Given the description of an element on the screen output the (x, y) to click on. 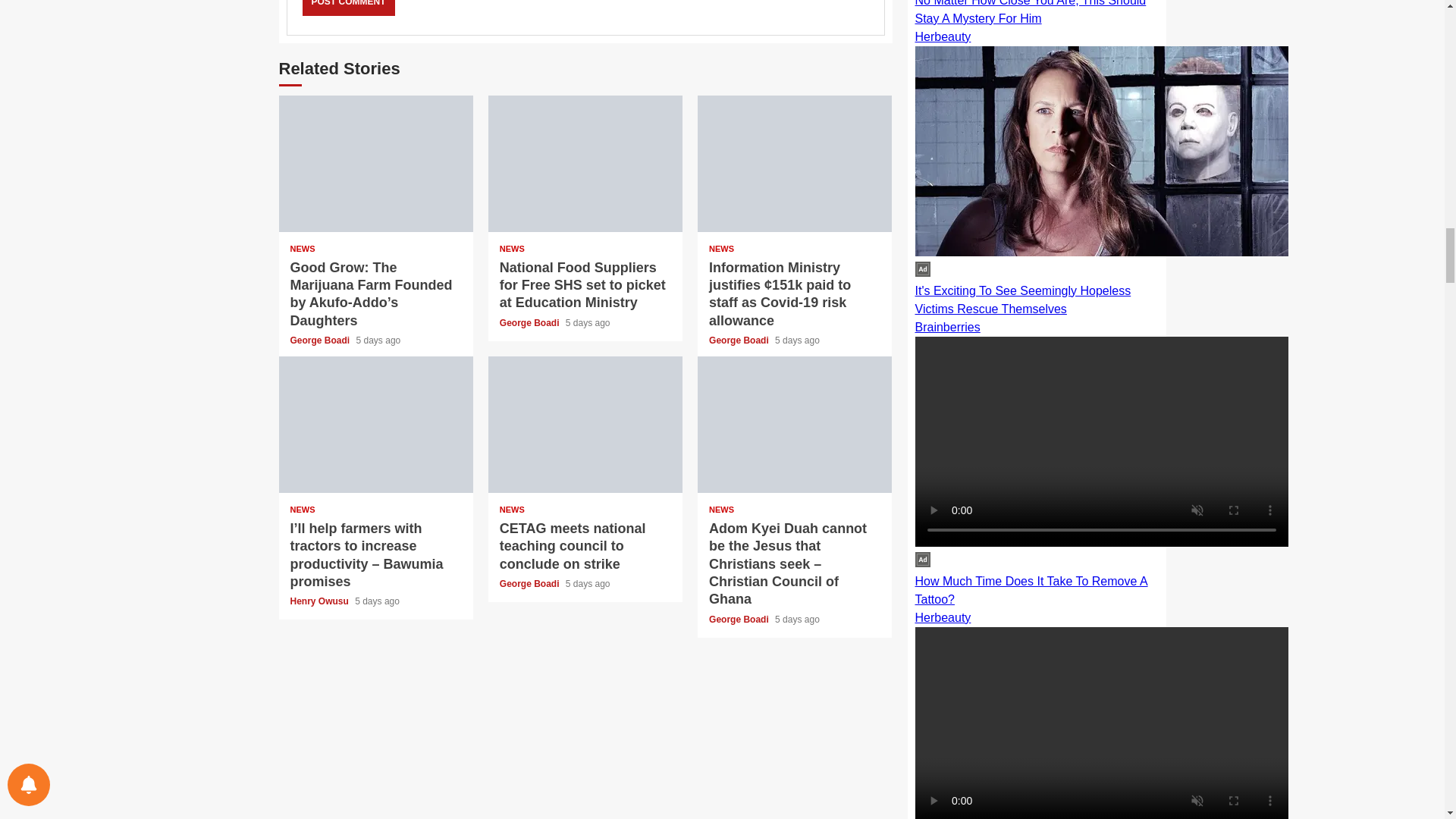
NEWS (721, 248)
George Boadi (740, 339)
NEWS (301, 248)
NEWS (301, 510)
Post Comment (347, 7)
George Boadi (530, 322)
Henry Owusu (319, 601)
George Boadi (320, 339)
NEWS (511, 248)
Post Comment (347, 7)
